Given the description of an element on the screen output the (x, y) to click on. 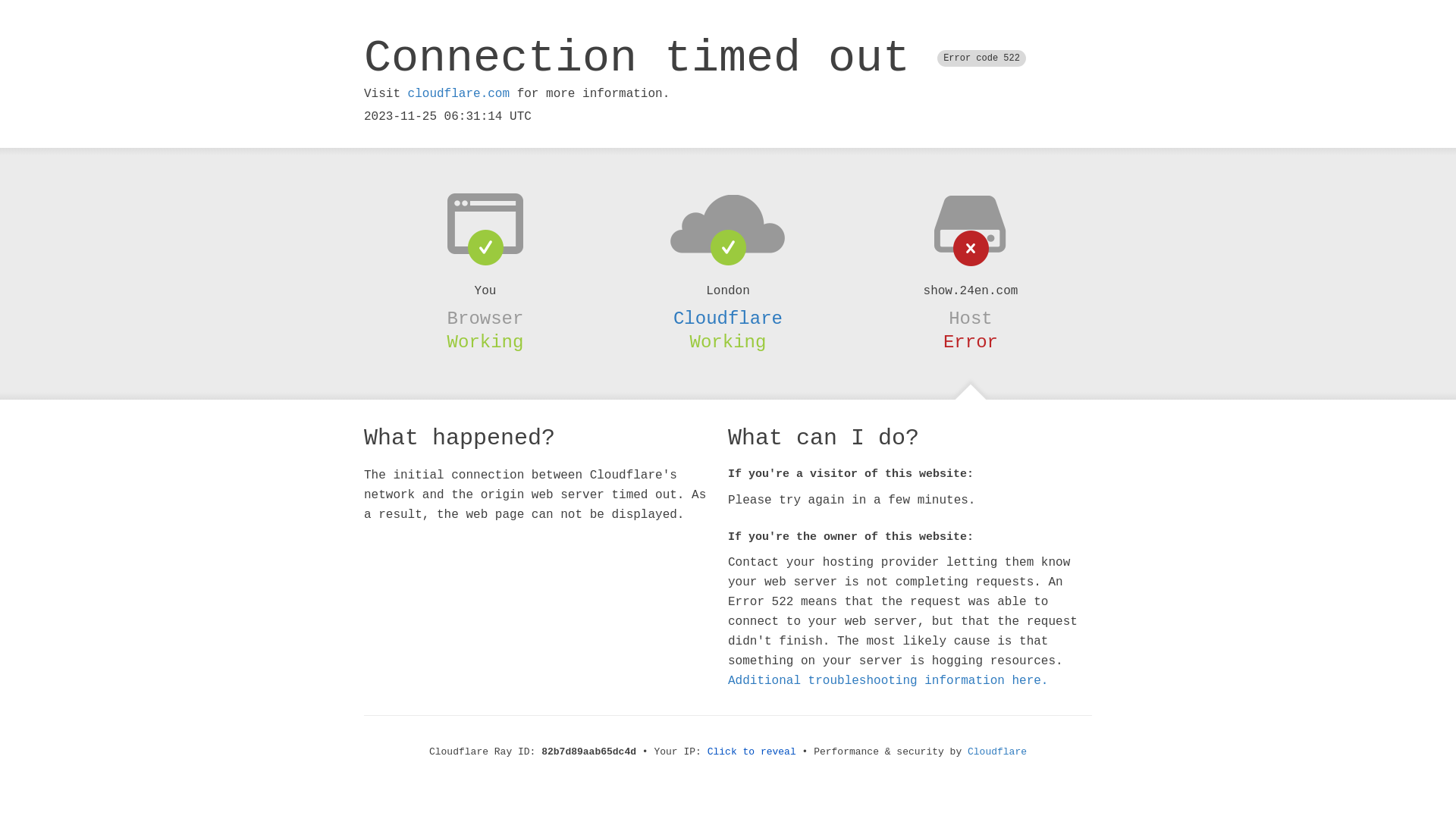
Cloudflare Element type: text (727, 318)
cloudflare.com Element type: text (458, 93)
Click to reveal Element type: text (751, 751)
Cloudflare Element type: text (996, 751)
Additional troubleshooting information here. Element type: text (888, 680)
